Given the description of an element on the screen output the (x, y) to click on. 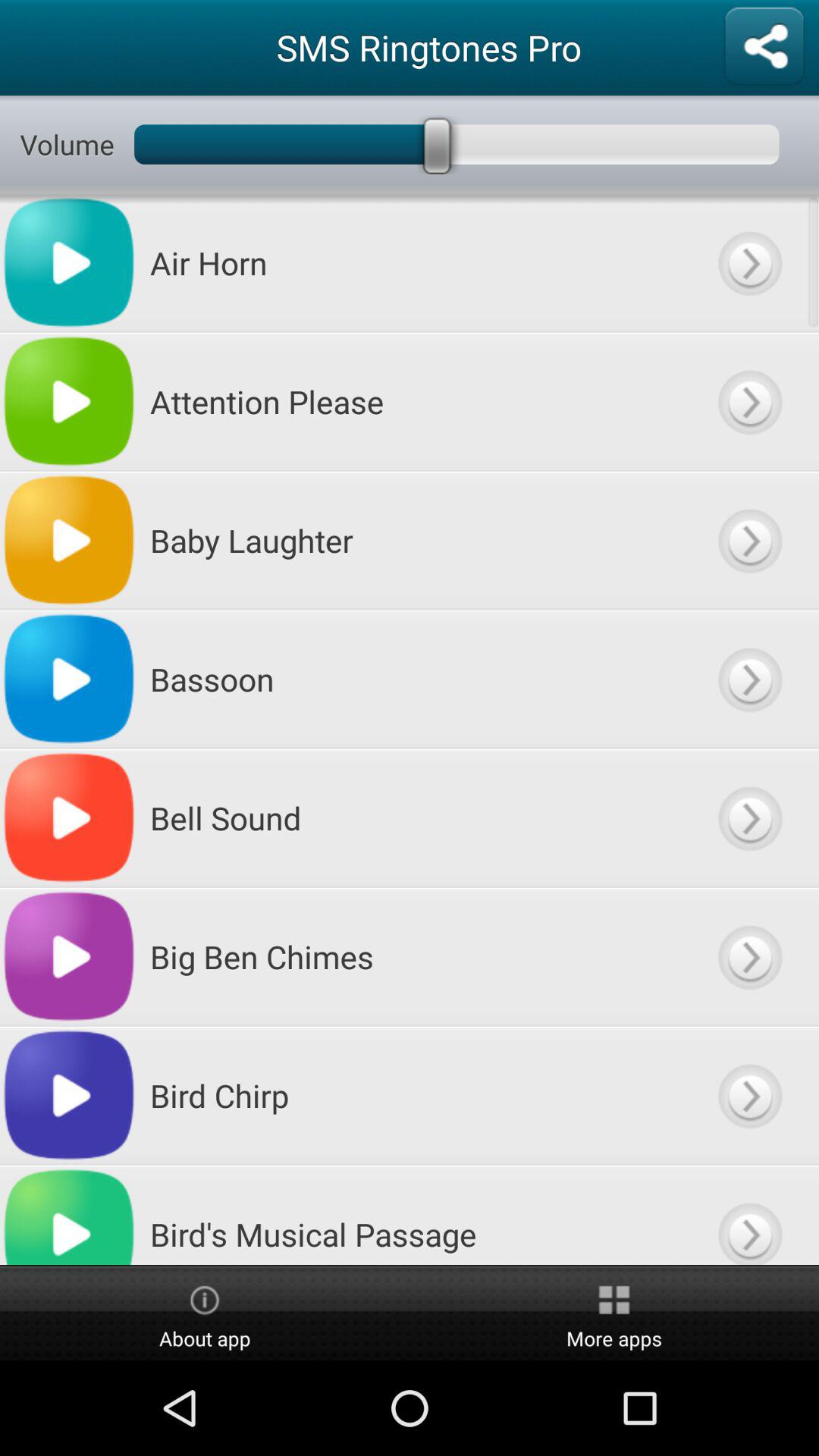
see more options about this ringtone (749, 262)
